Given the description of an element on the screen output the (x, y) to click on. 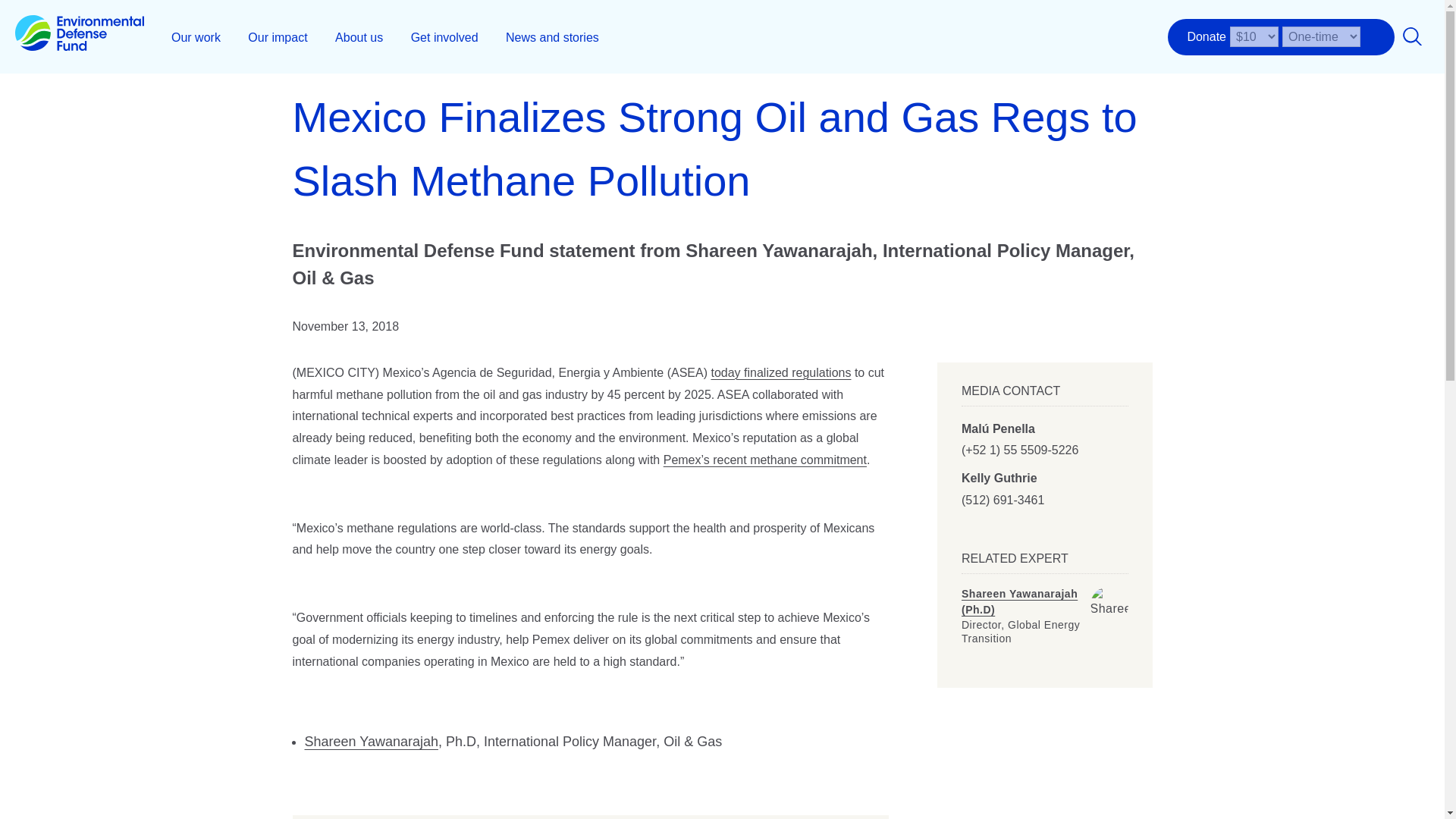
Home (79, 36)
Magnifying Glass (1412, 36)
News and stories (552, 36)
Our work (195, 36)
Magnifying Glass (1411, 36)
Our impact (276, 36)
Environmental Defense Fund (79, 36)
Get involved (444, 36)
Shareen Yawanarajah (1109, 605)
